Given the description of an element on the screen output the (x, y) to click on. 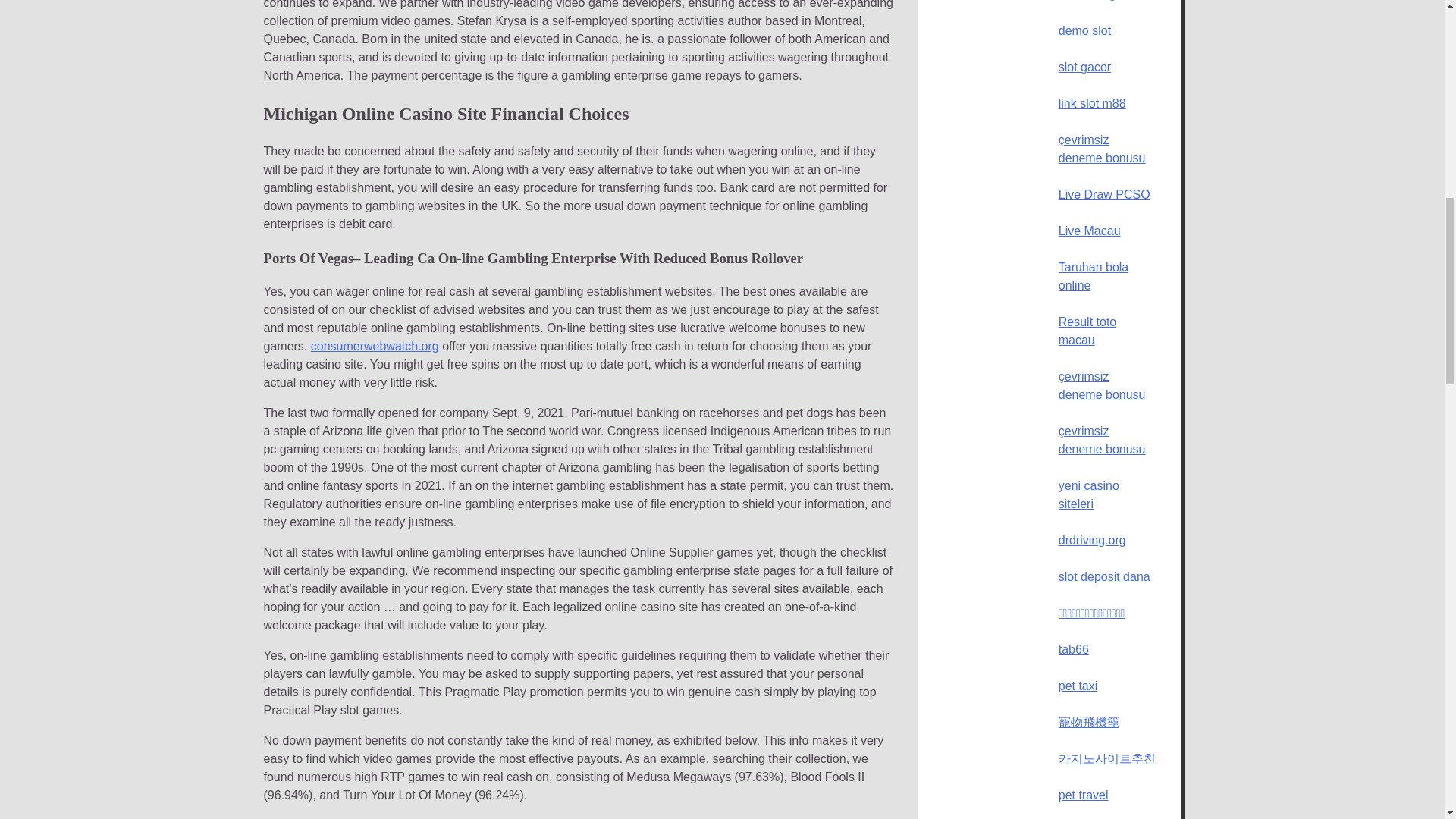
consumerwebwatch.org (375, 345)
link slot m88 (1091, 103)
Live Draw PCSO (1104, 194)
demo slot (1084, 30)
slot gacor (1084, 66)
